Given the description of an element on the screen output the (x, y) to click on. 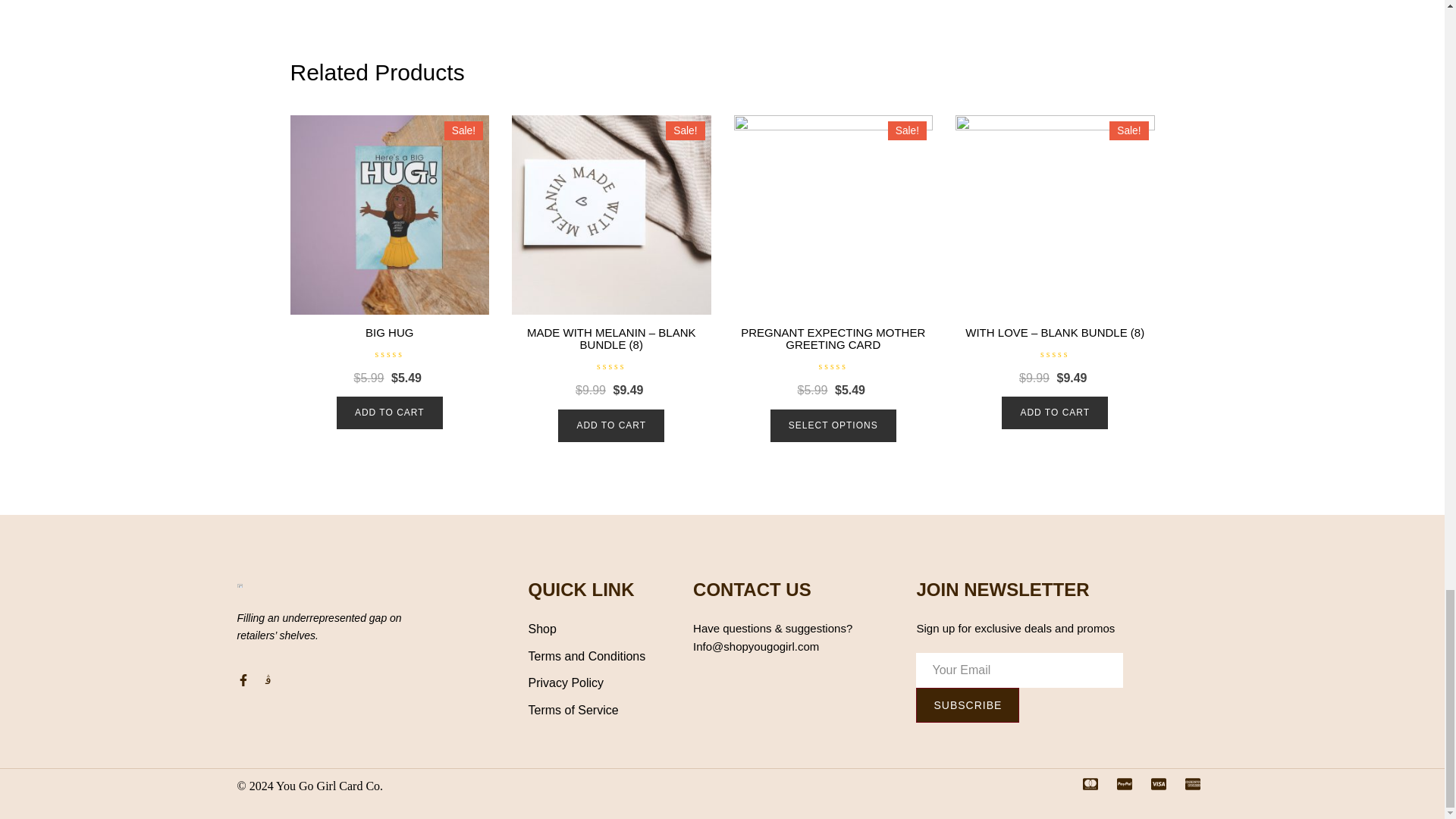
Sale! (389, 214)
Sale! (611, 214)
ADD TO CART (389, 412)
